Given the description of an element on the screen output the (x, y) to click on. 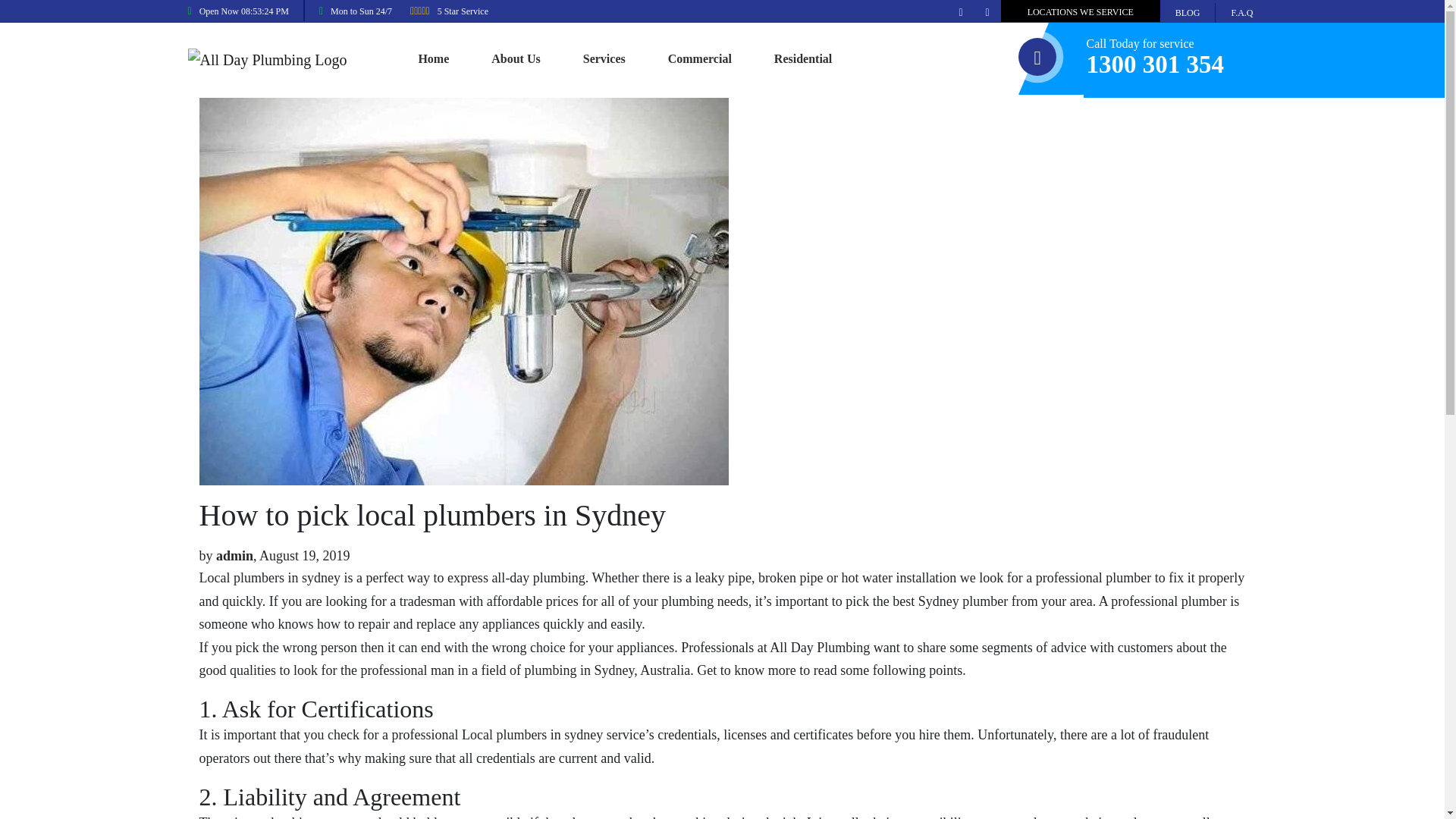
Instagram (987, 11)
Commercial (700, 59)
Home (433, 59)
BLOG (1187, 12)
Facebook (960, 11)
Call All Day Plumbing (1155, 63)
Services (603, 59)
F.A.Q (1241, 12)
About Us (515, 59)
All Day Plumbing (267, 58)
